Given the description of an element on the screen output the (x, y) to click on. 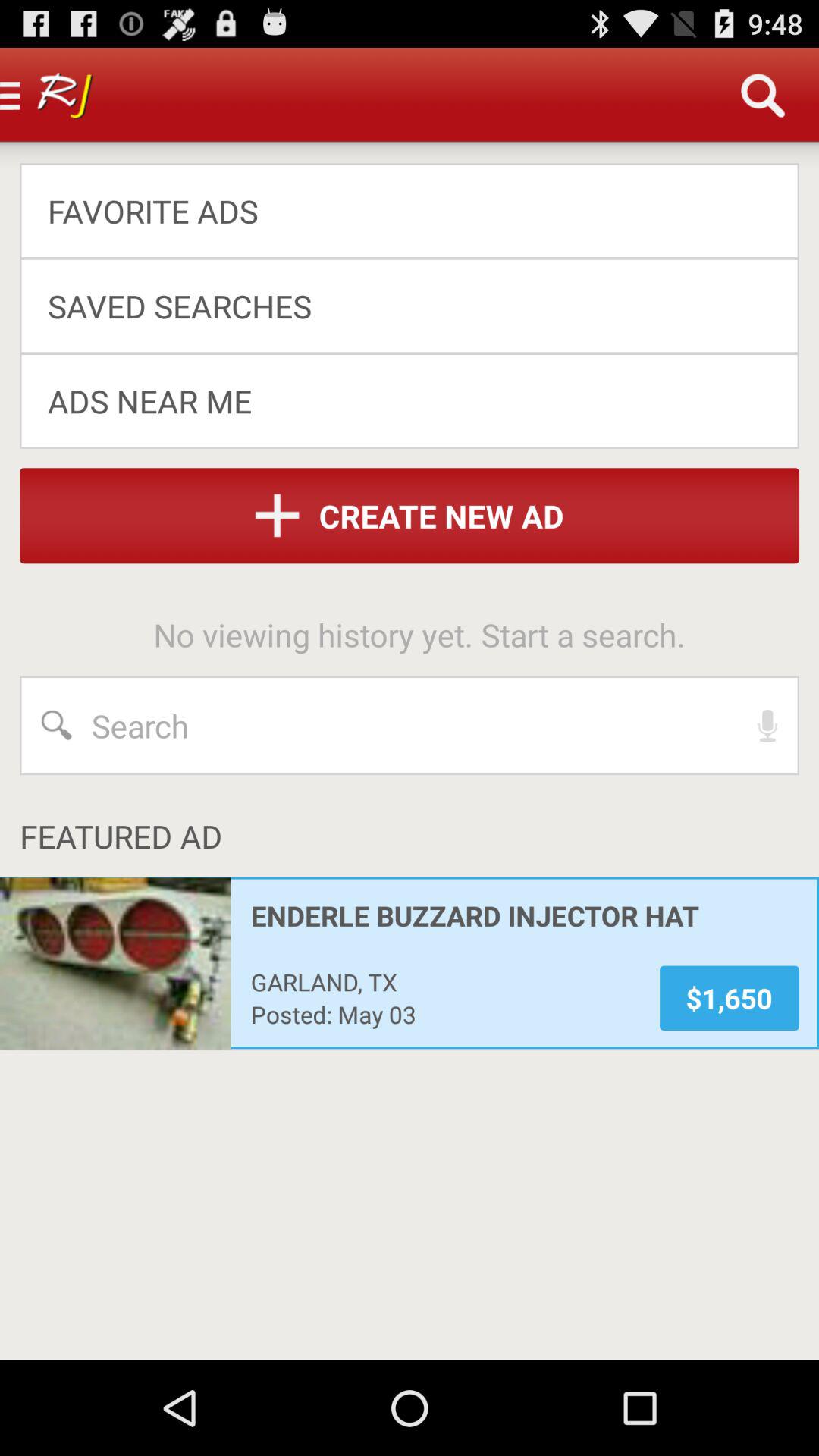
flip until the featured ad (419, 835)
